Given the description of an element on the screen output the (x, y) to click on. 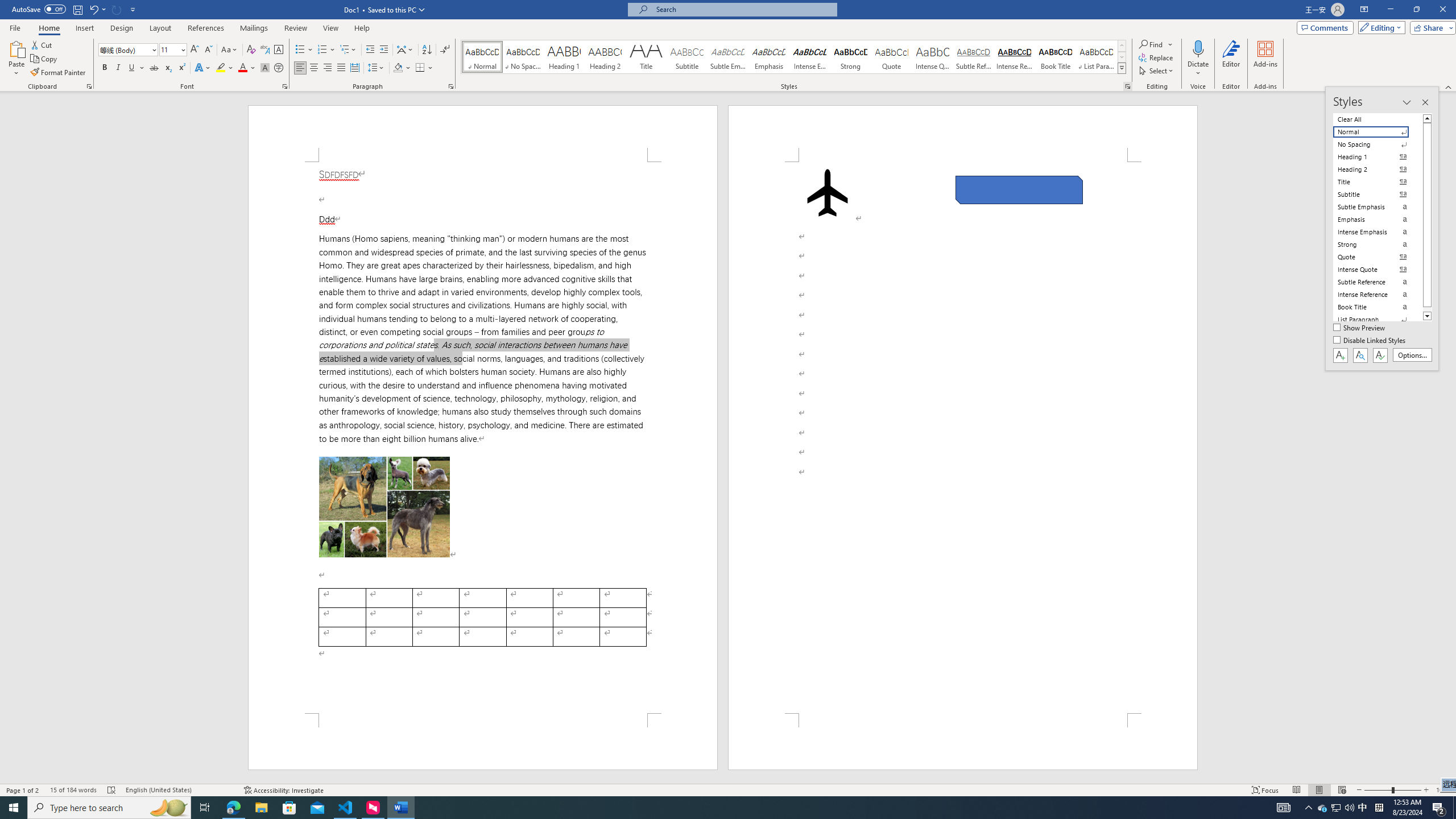
Spelling and Grammar Check Errors (111, 790)
Layout (160, 28)
Undo Apply Quick Style Set (92, 9)
Format Painter (58, 72)
Open (182, 49)
Undo Apply Quick Style Set (96, 9)
Subscript (167, 67)
References (205, 28)
Enclose Characters... (278, 67)
Intense Emphasis (809, 56)
Font... (285, 85)
